Given the description of an element on the screen output the (x, y) to click on. 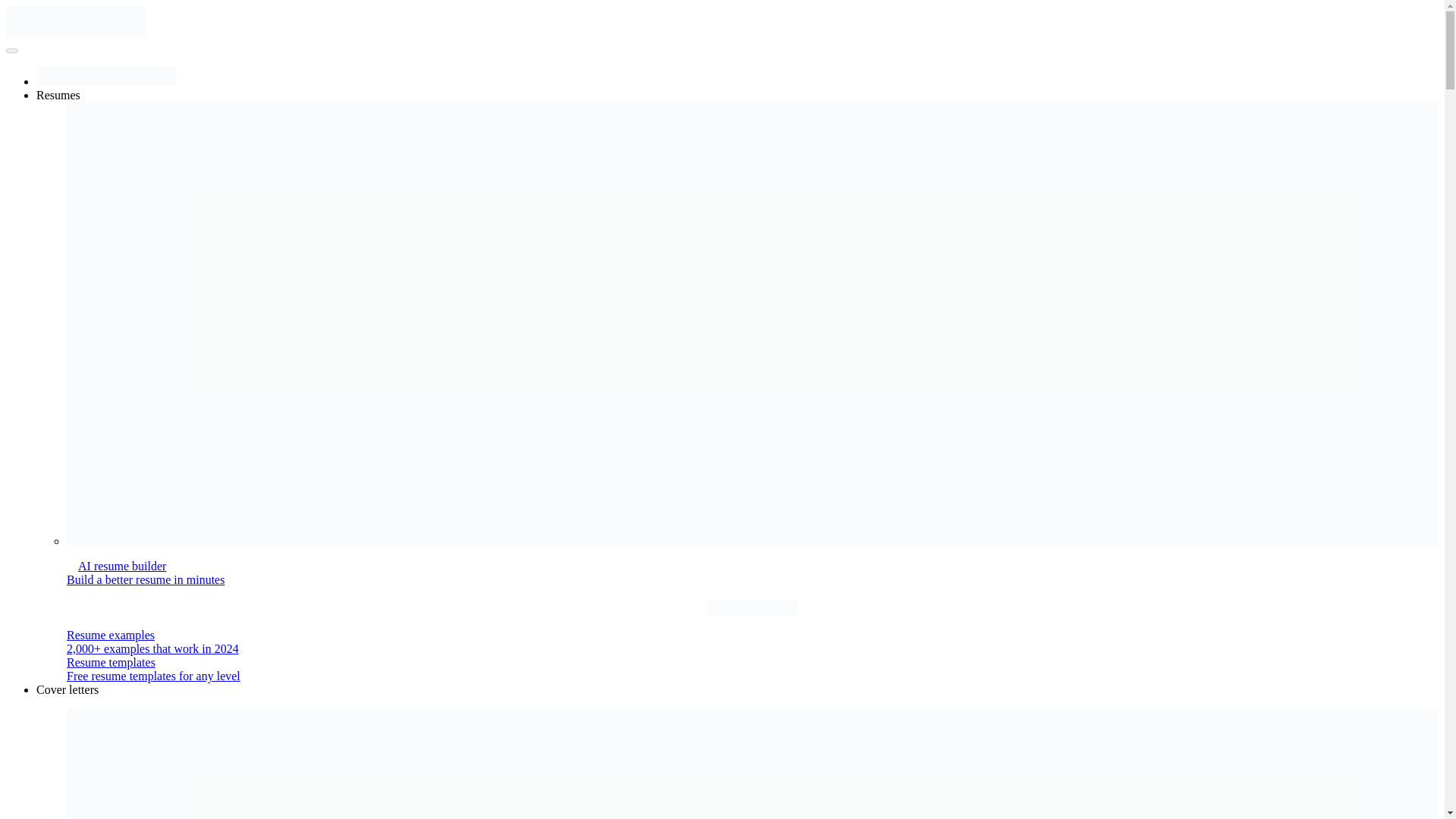
Cover letters (67, 689)
Resumes (58, 94)
